Given the description of an element on the screen output the (x, y) to click on. 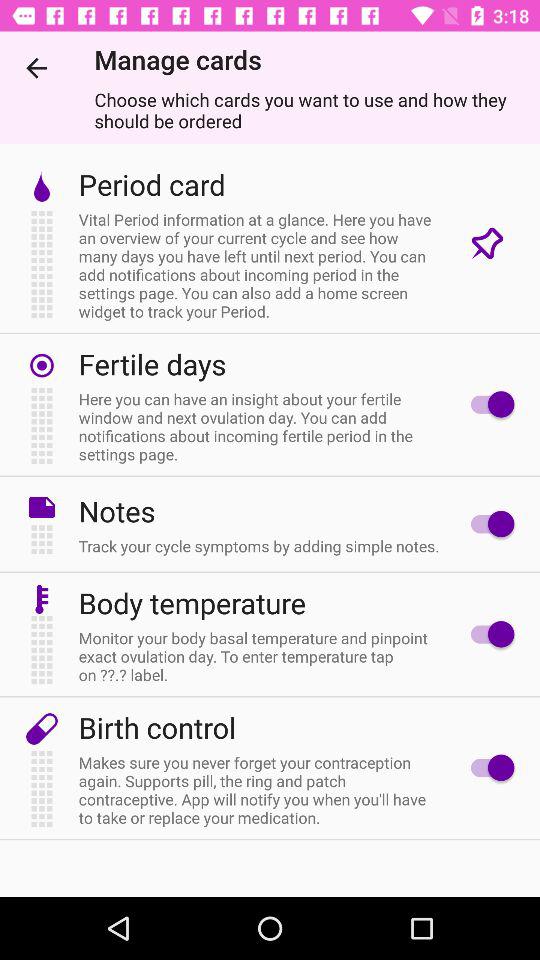
turn off the icon next to the manage cards item (36, 68)
